Given the description of an element on the screen output the (x, y) to click on. 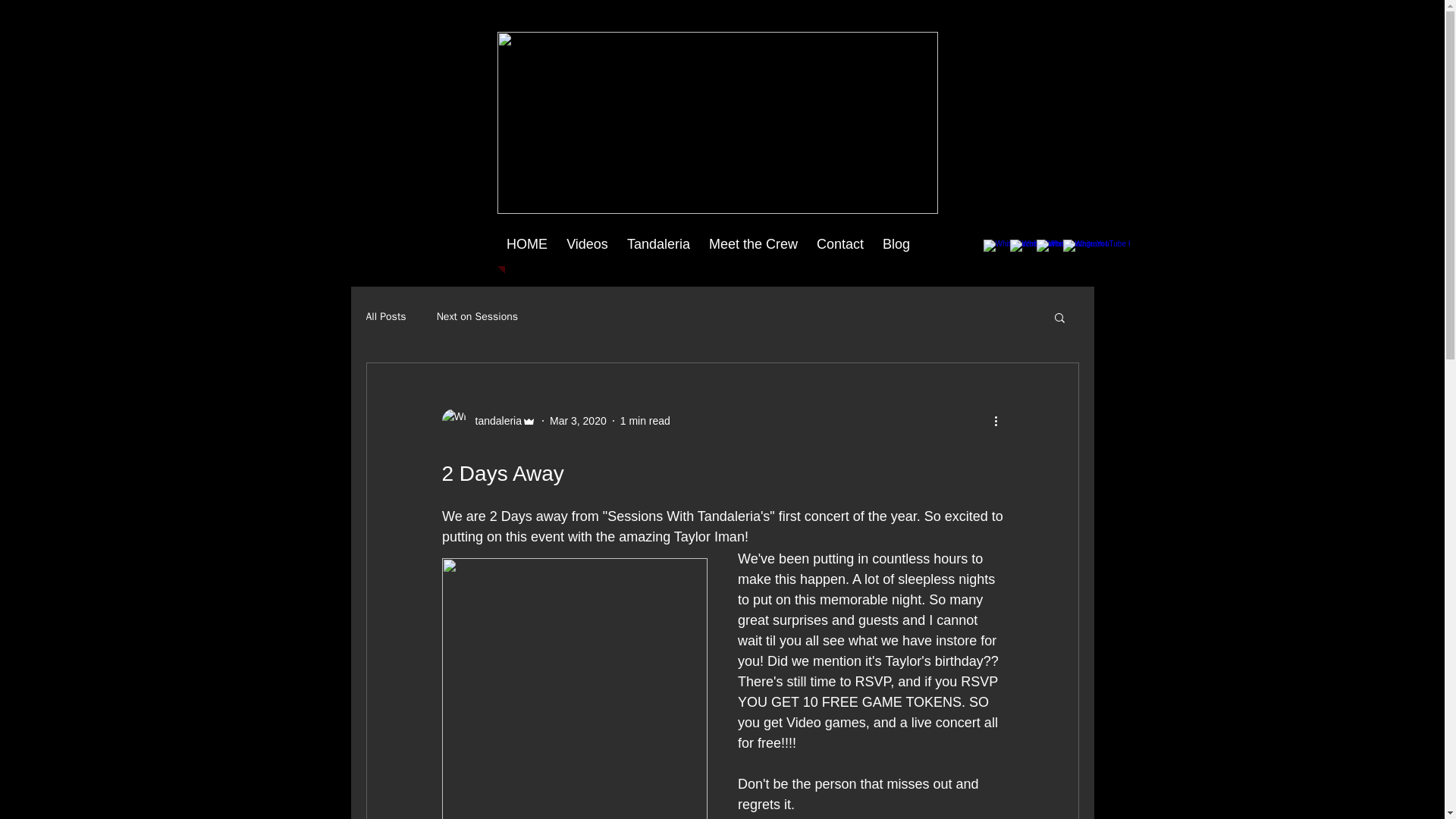
HOME (527, 244)
Meet the Crew (752, 244)
Blog (896, 244)
Contact (839, 244)
tandaleria (493, 420)
Next on Sessions (477, 316)
Tandaleria (657, 244)
Videos (586, 244)
All Posts (385, 316)
tandaleria (488, 420)
Mar 3, 2020 (578, 419)
1 min read (644, 419)
